Given the description of an element on the screen output the (x, y) to click on. 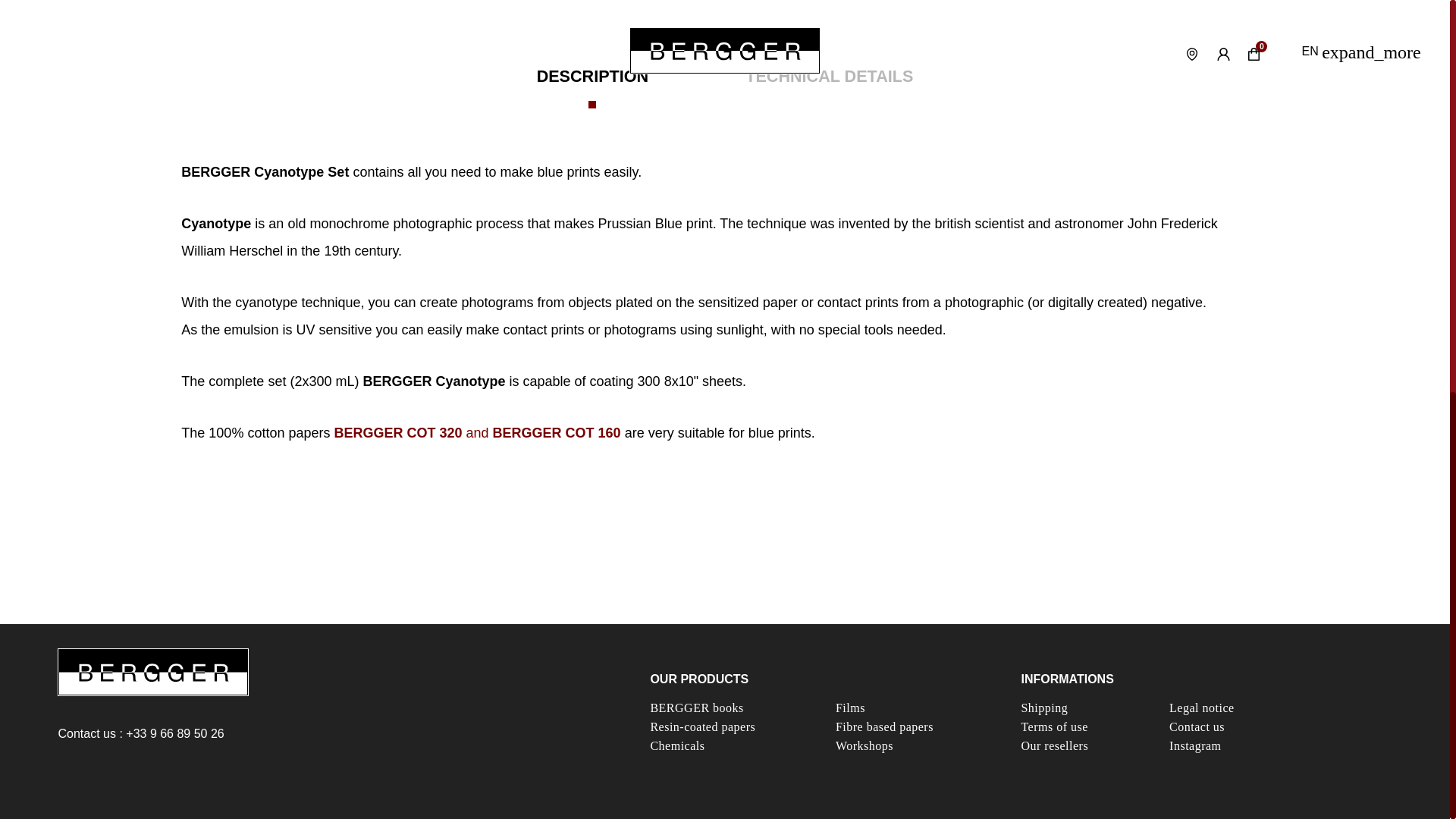
DESCRIPTION (592, 85)
TECHNICAL DETAILS (828, 76)
